Given the description of an element on the screen output the (x, y) to click on. 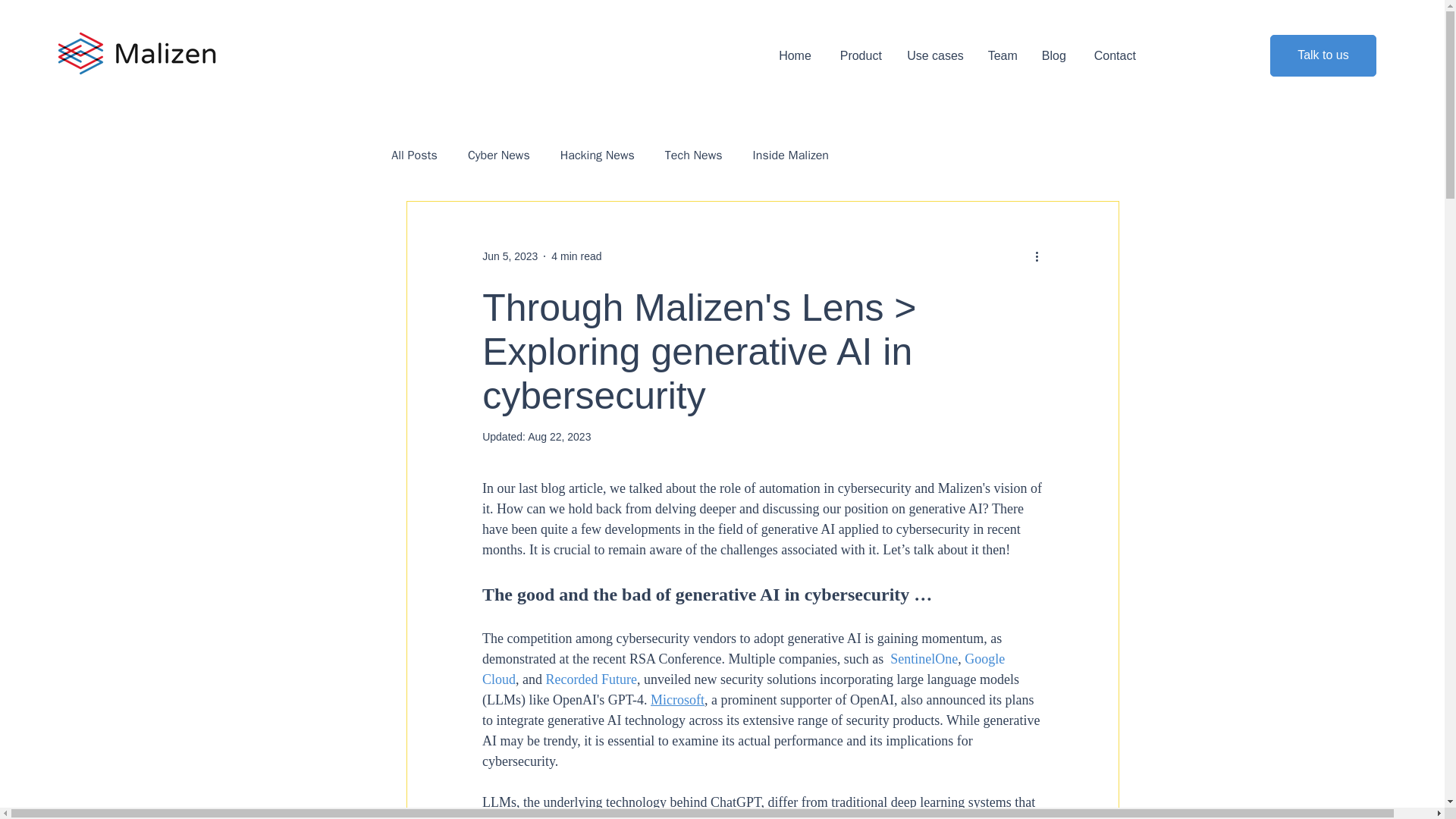
Talk to us (1322, 55)
Team (1002, 55)
4 min read (576, 256)
All Posts (414, 154)
Inside Malizen (790, 154)
Hacking News (597, 154)
Recorded Future (591, 679)
Product (857, 55)
Aug 22, 2023 (559, 436)
Contact (1112, 55)
Jun 5, 2023 (509, 256)
Microsoft (677, 699)
Cyber News (498, 154)
Use cases (934, 55)
Home (794, 55)
